Given the description of an element on the screen output the (x, y) to click on. 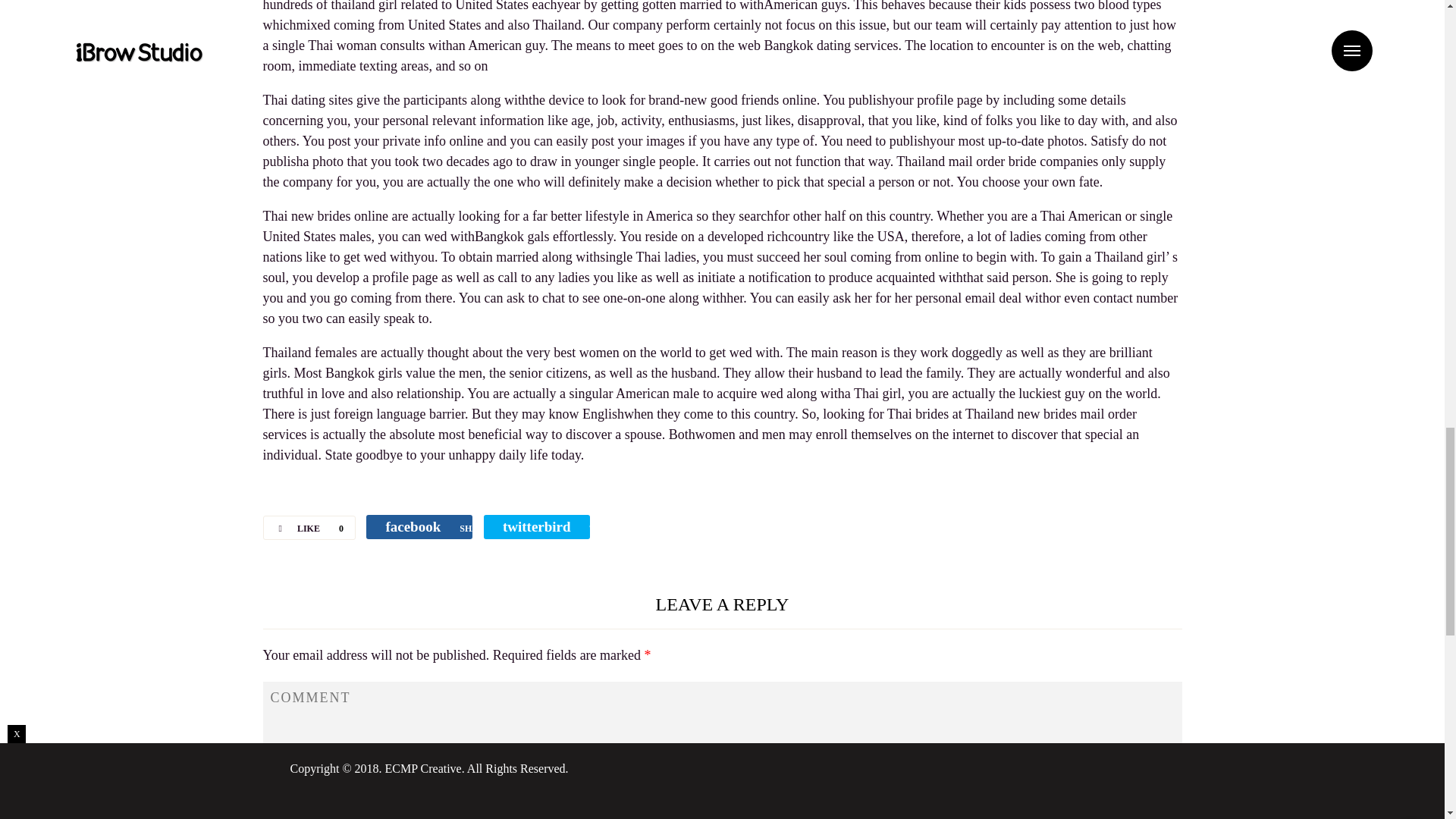
LIKE0 (308, 527)
facebookSHARE (418, 526)
twitterbirdTWEET (536, 526)
